Given the description of an element on the screen output the (x, y) to click on. 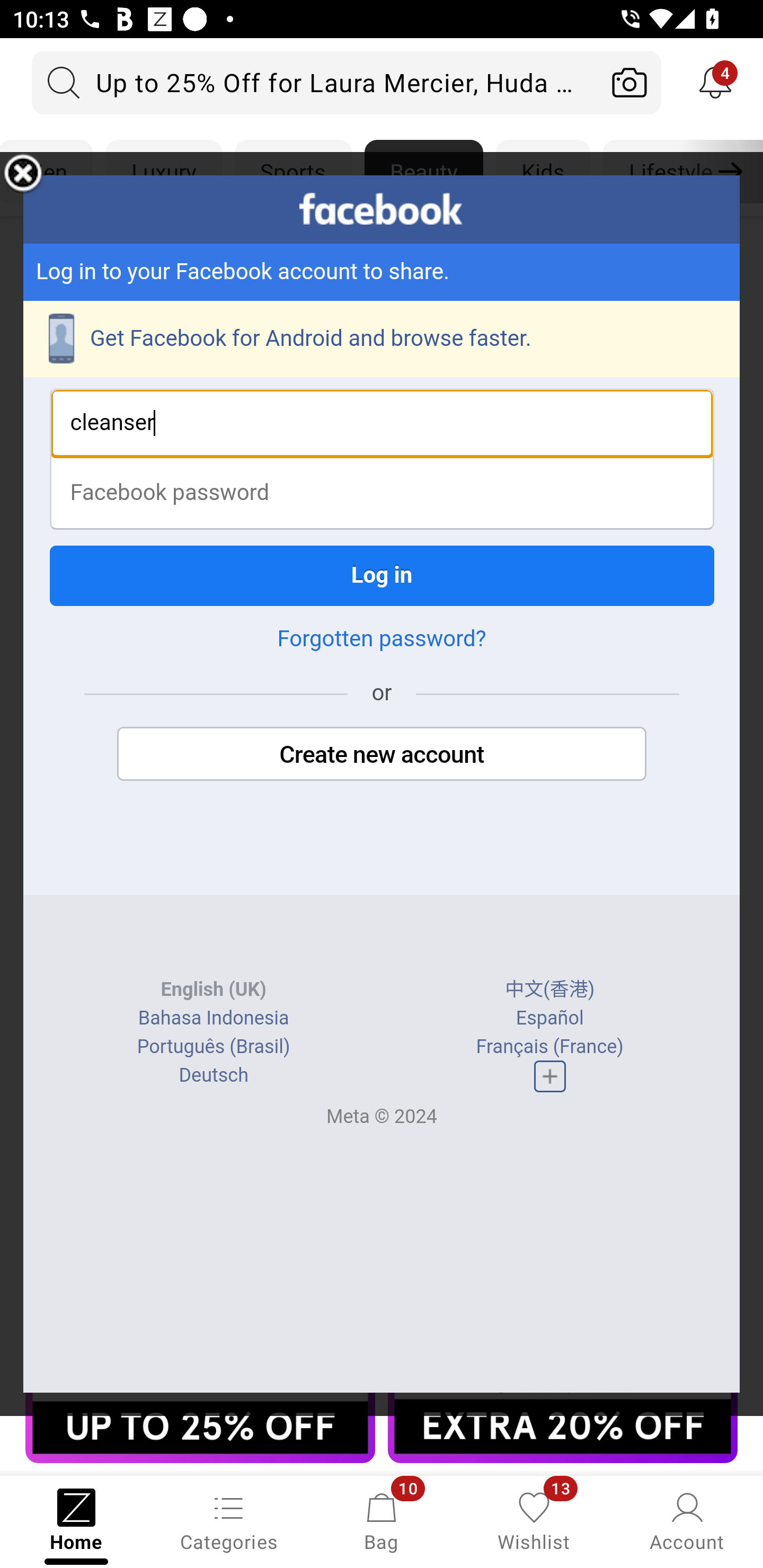
facebook (381, 208)
Get Facebook for Android and browse faster. (381, 339)
cleanser (381, 423)
Log in (381, 575)
Forgotten password? (381, 638)
Create new account (381, 753)
中文(香港) (550, 989)
Bahasa Indonesia (214, 1018)
Español (549, 1018)
Português (Brasil) (212, 1046)
Français (France) (549, 1046)
Complete list of languages (548, 1075)
Deutsch (212, 1075)
